Given the description of an element on the screen output the (x, y) to click on. 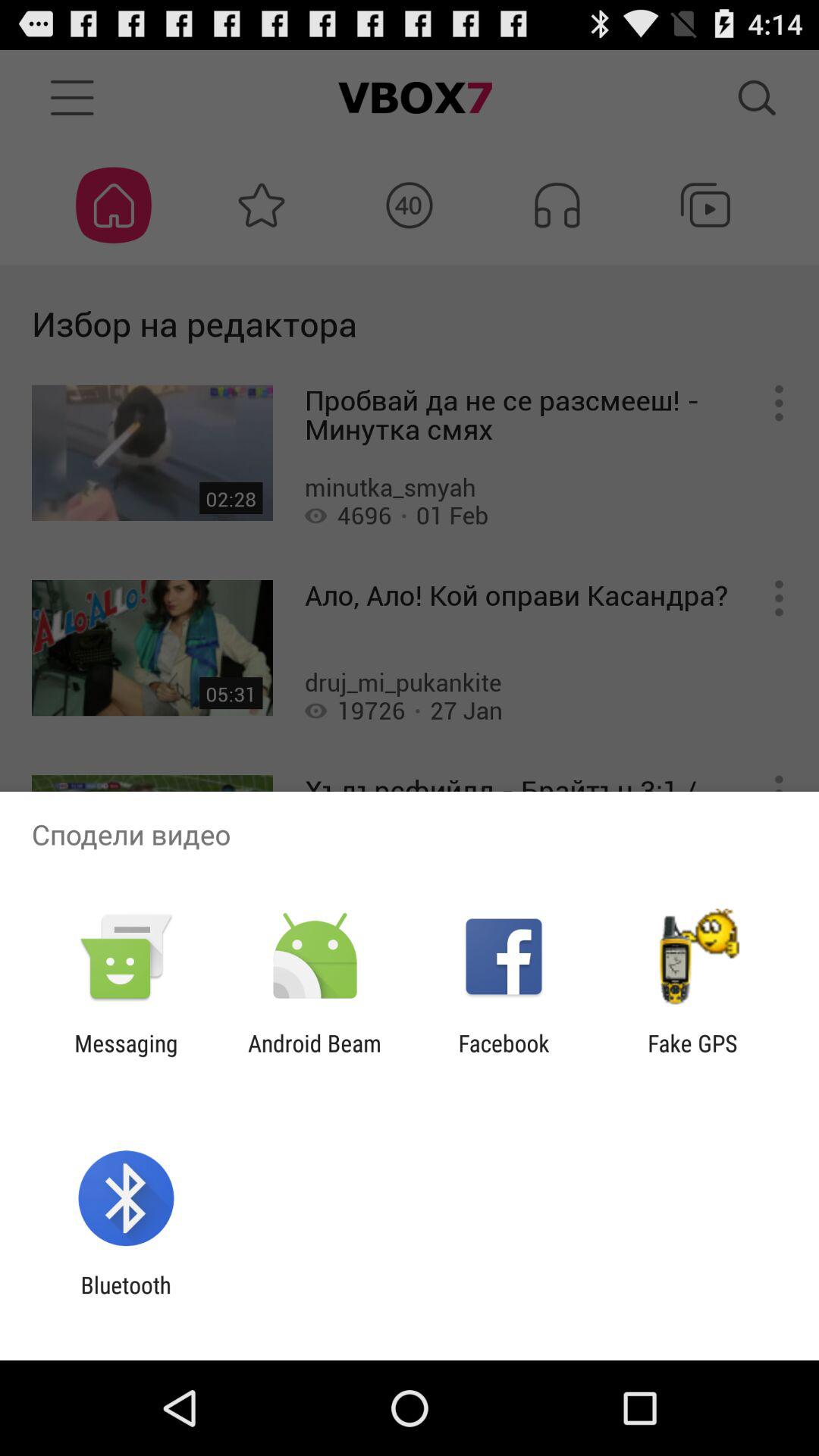
launch the icon to the left of fake gps item (503, 1056)
